Given the description of an element on the screen output the (x, y) to click on. 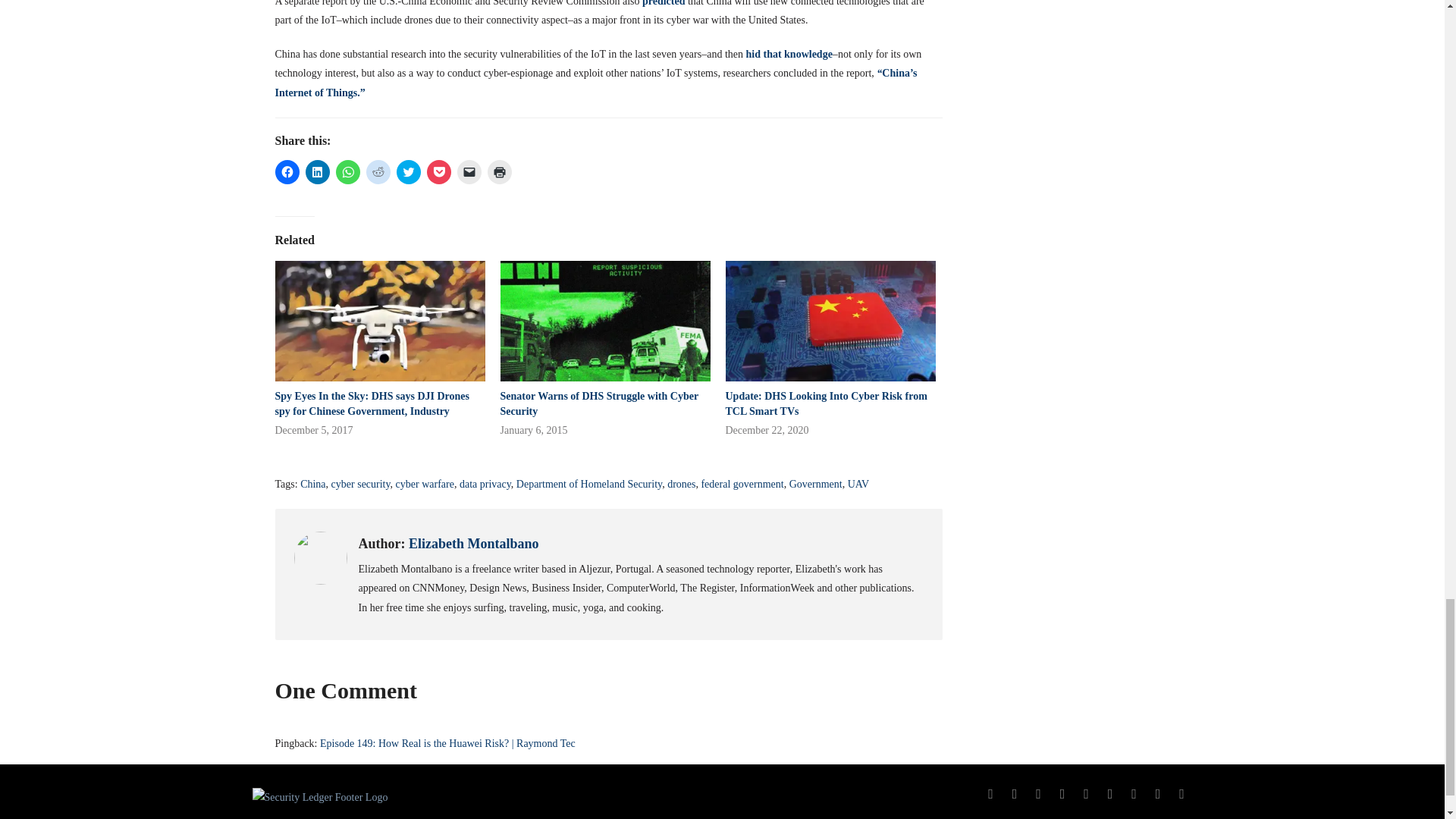
Click to share on Facebook (286, 171)
Click to share on LinkedIn (316, 171)
